Given the description of an element on the screen output the (x, y) to click on. 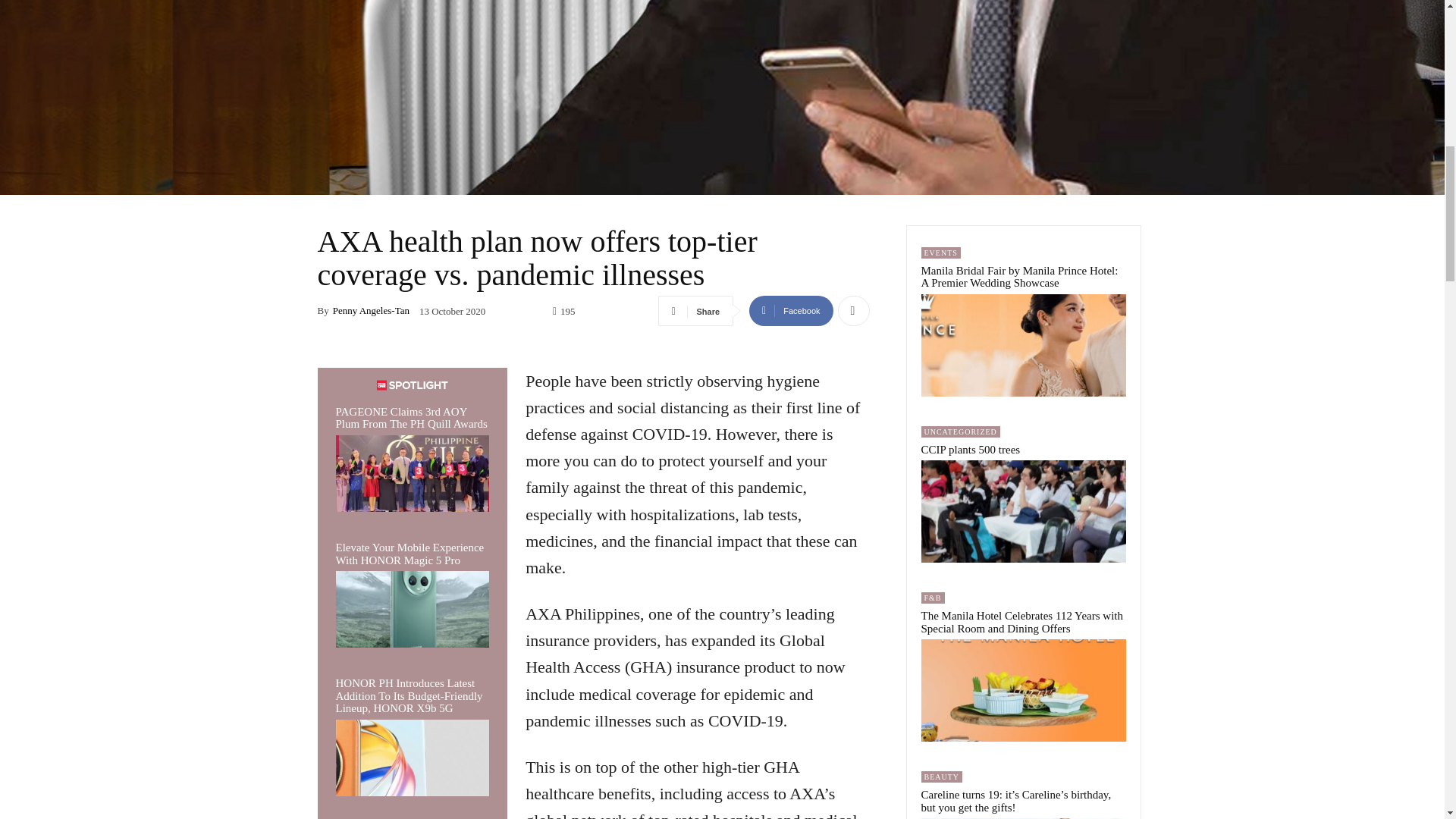
2023 PAGEONE Spotlight (411, 385)
Elevate Your Mobile Experience With HONOR Magic 5 Pro (408, 553)
Elevate Your Mobile Experience With HONOR Magic 5 Pro (411, 608)
PAGEONE Claims 3rd AOY Plum From The PH Quill Awards (411, 472)
EVENTS (939, 252)
More (853, 310)
PAGEONE Claims 3rd AOY Plum From The PH Quill Awards (410, 417)
Facebook (790, 310)
Facebook (790, 310)
Elevate Your Mobile Experience With HONOR Magic 5 Pro (408, 553)
PAGEONE Claims 3rd AOY Plum From The PH Quill Awards (410, 417)
